Given the description of an element on the screen output the (x, y) to click on. 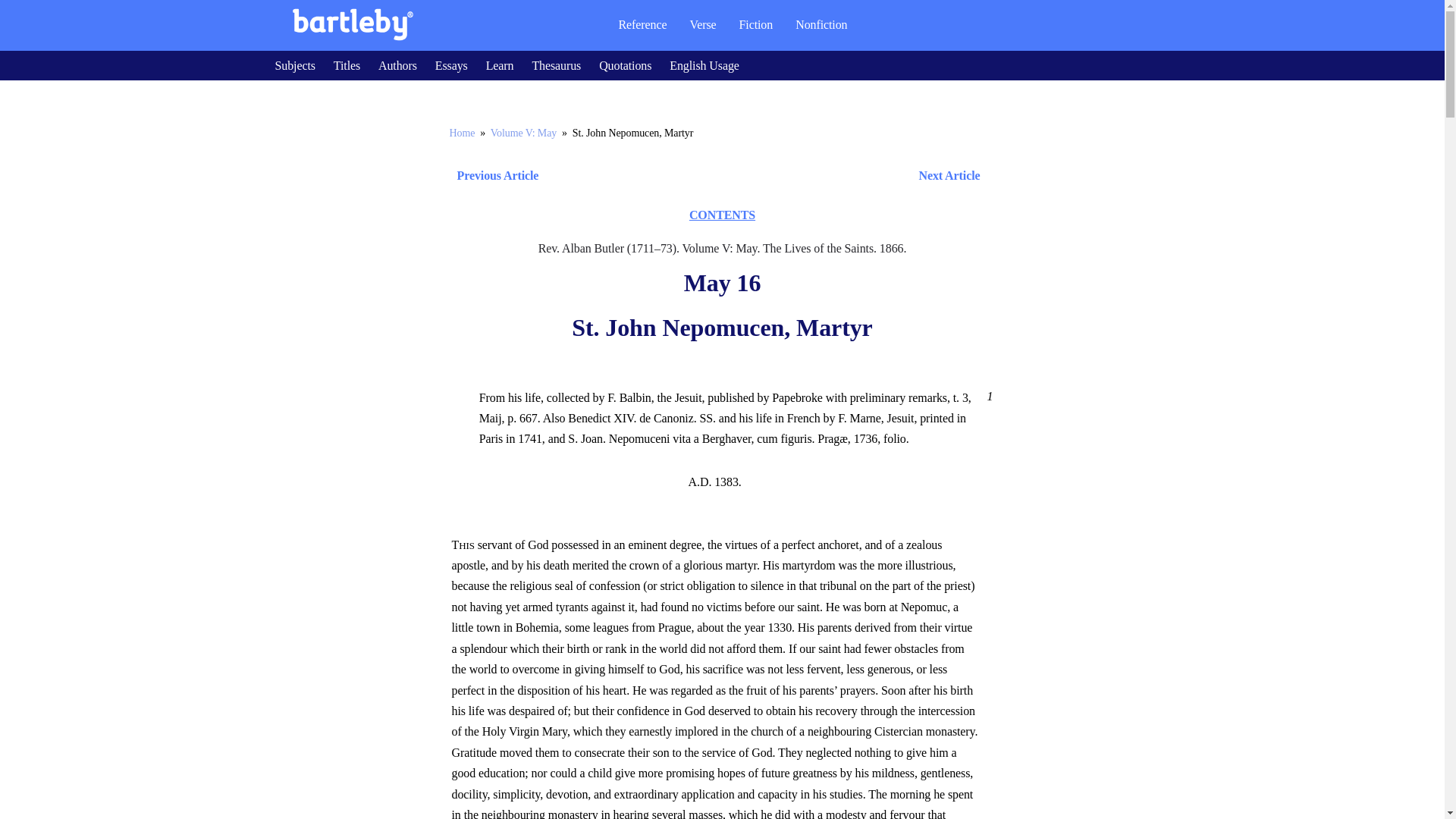
Home (461, 132)
Learn (499, 65)
Quotations (624, 65)
Authors (397, 65)
Thesaurus (555, 65)
Fiction (756, 24)
Nonfiction (821, 24)
English Usage (704, 65)
CONTENTS (721, 214)
Titles (346, 65)
Next Article (766, 175)
  1 (986, 395)
Previous Article (493, 175)
Verse (702, 24)
Reference (642, 24)
